Given the description of an element on the screen output the (x, y) to click on. 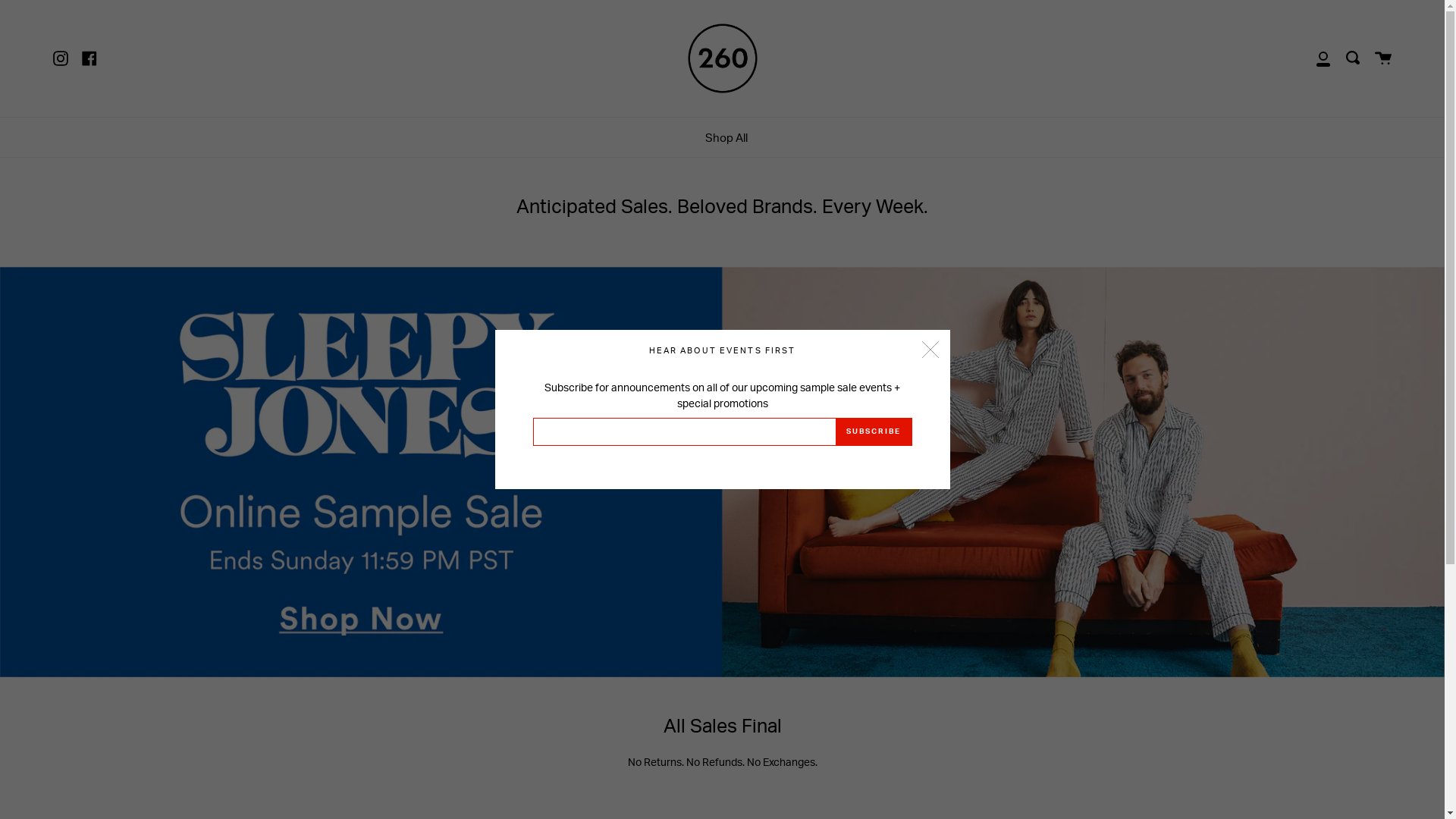
Shop All Element type: text (726, 138)
SUBSCRIBE Element type: text (873, 431)
Facebook Element type: text (89, 57)
Search Element type: text (1352, 58)
Cart Element type: text (1382, 58)
Instagram Element type: text (60, 57)
My Account Element type: text (1322, 58)
